Given the description of an element on the screen output the (x, y) to click on. 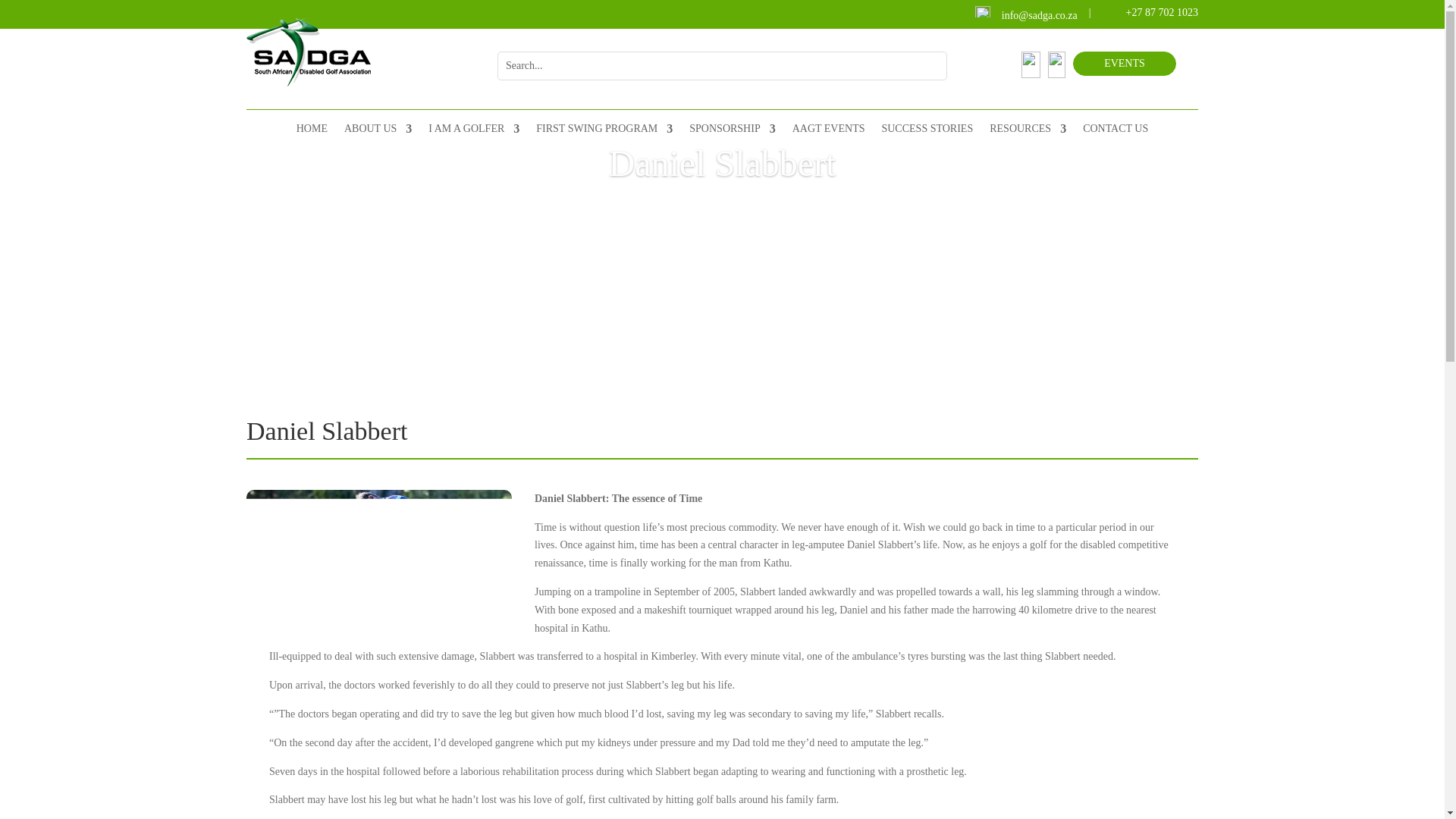
RESOURCES (1027, 134)
SPONSORSHIP (731, 134)
FIRST SWING PROGRAM (603, 134)
EVENTS (1124, 63)
daniel sadga wide (379, 558)
I AM A GOLFER (473, 134)
Search (924, 65)
ABOUT US (377, 134)
CONTACT US (1115, 134)
Search (924, 65)
